Given the description of an element on the screen output the (x, y) to click on. 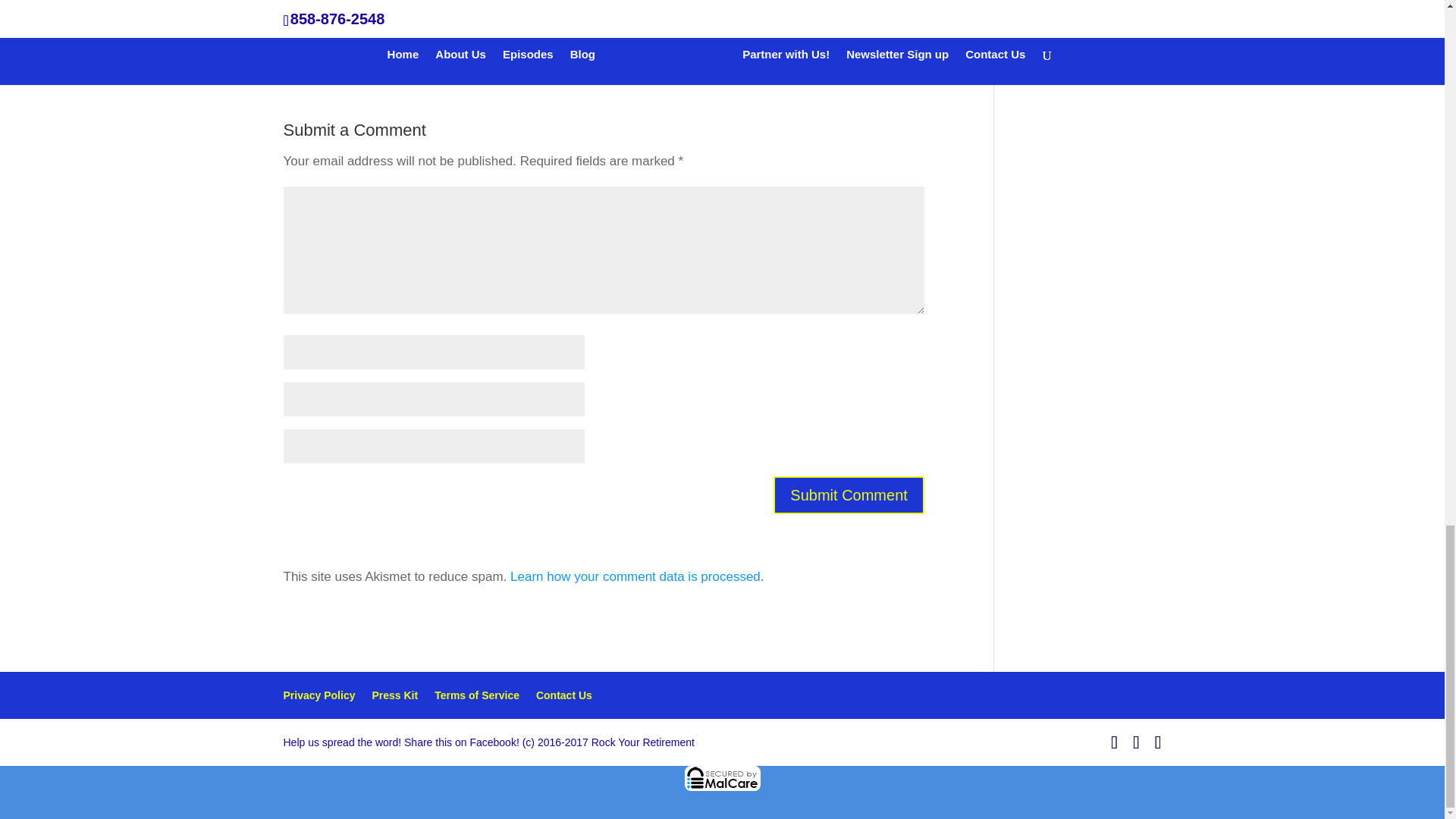
Privacy Policy (319, 695)
Terms of Service (476, 695)
Submit Comment (848, 494)
Learn how your comment data is processed (635, 576)
Submit Comment (848, 494)
Press Kit (394, 695)
Contact Us (563, 695)
